Given the description of an element on the screen output the (x, y) to click on. 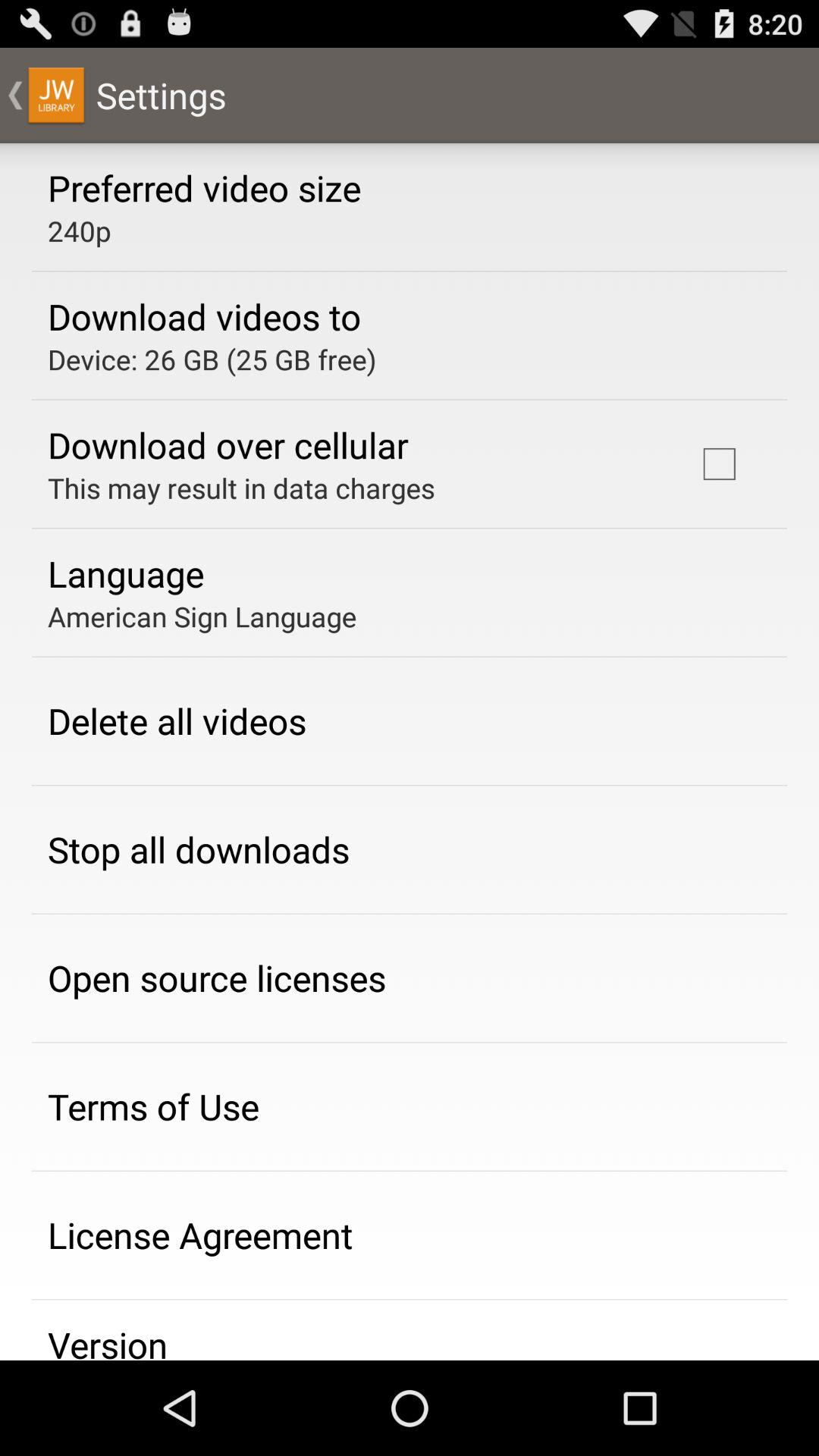
turn on app above the download videos to icon (78, 230)
